Given the description of an element on the screen output the (x, y) to click on. 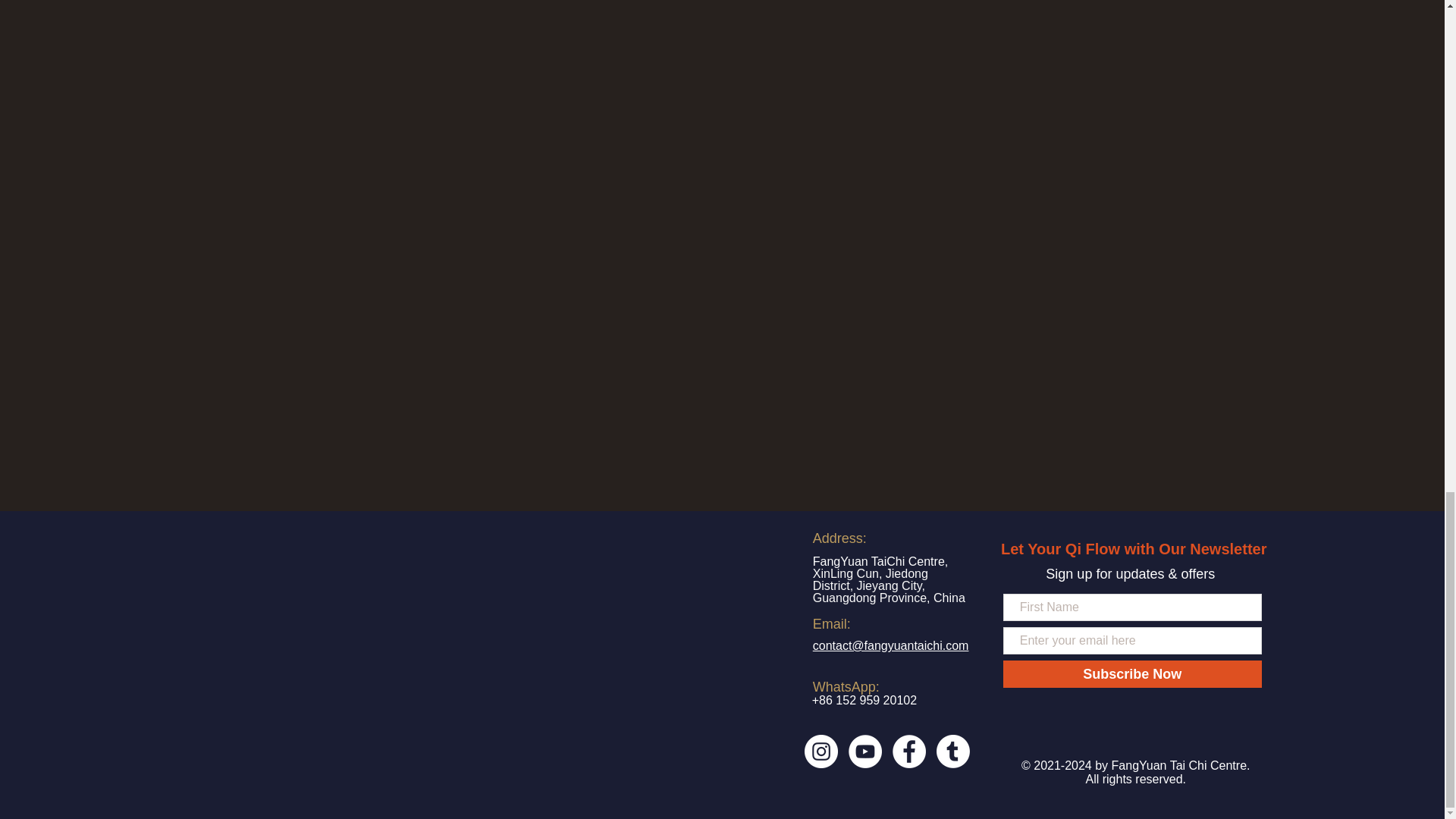
Subscribe Now (1132, 673)
